Given the description of an element on the screen output the (x, y) to click on. 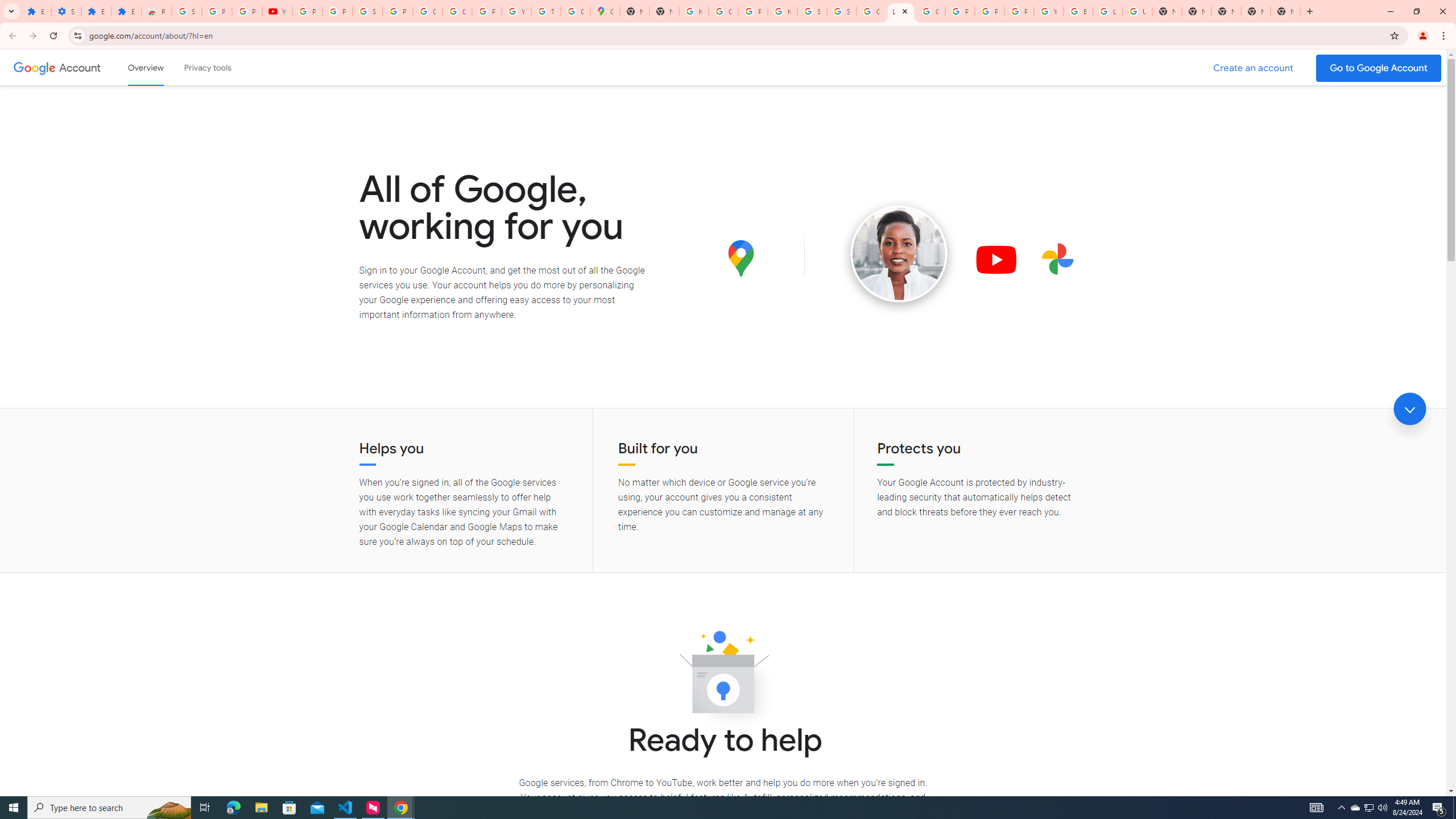
Create a Google Account (1253, 67)
Ready to help (722, 675)
New Tab (1284, 11)
Google Account (426, 11)
https://scholar.google.com/ (693, 11)
